Given the description of an element on the screen output the (x, y) to click on. 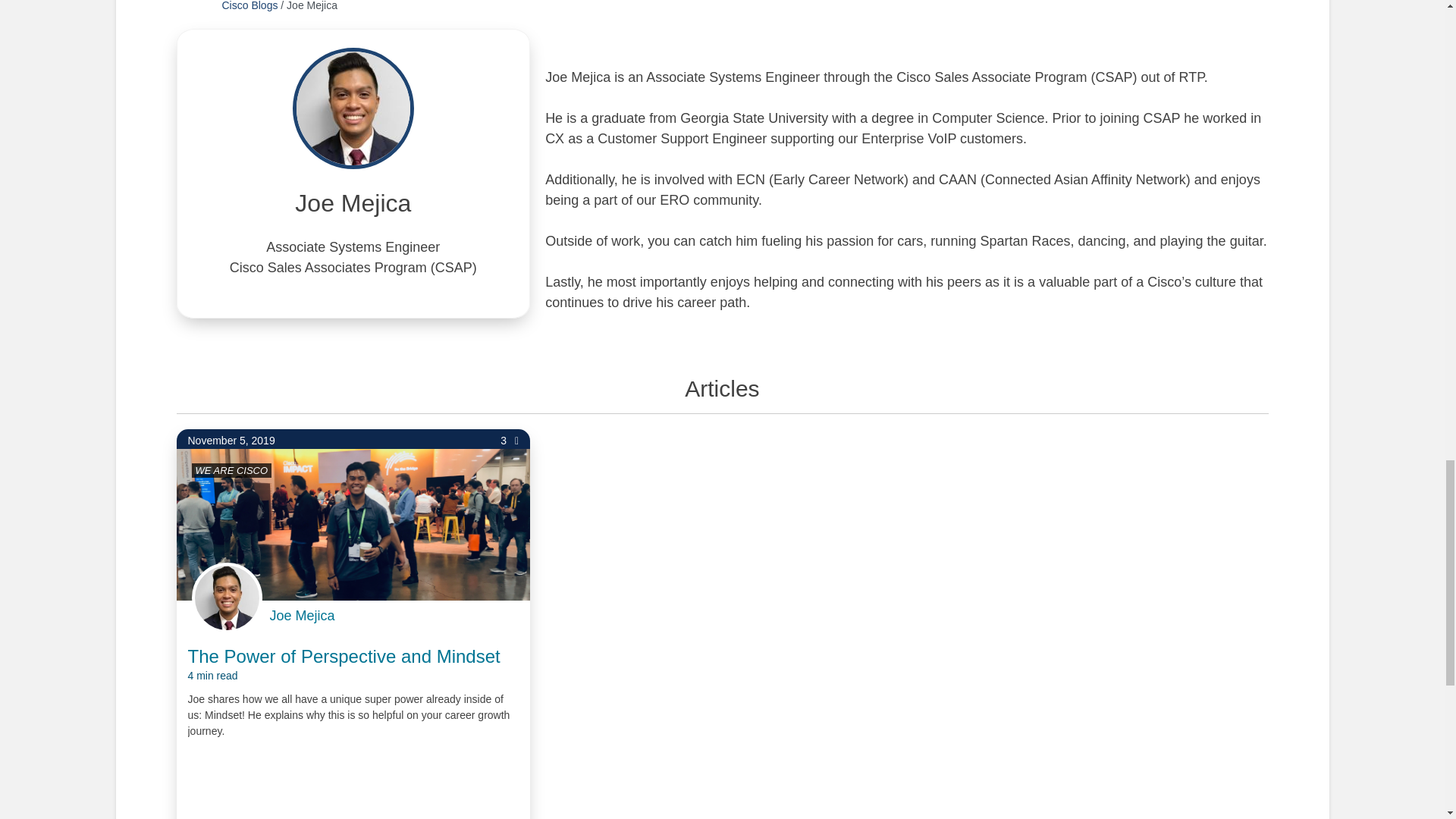
Cisco Blogs (249, 5)
Posts by Joe Mejica (301, 616)
WE ARE CISCO (231, 470)
Joe Mejica (301, 616)
3 (509, 440)
The Power of Perspective and Mindset (343, 664)
